Given the description of an element on the screen output the (x, y) to click on. 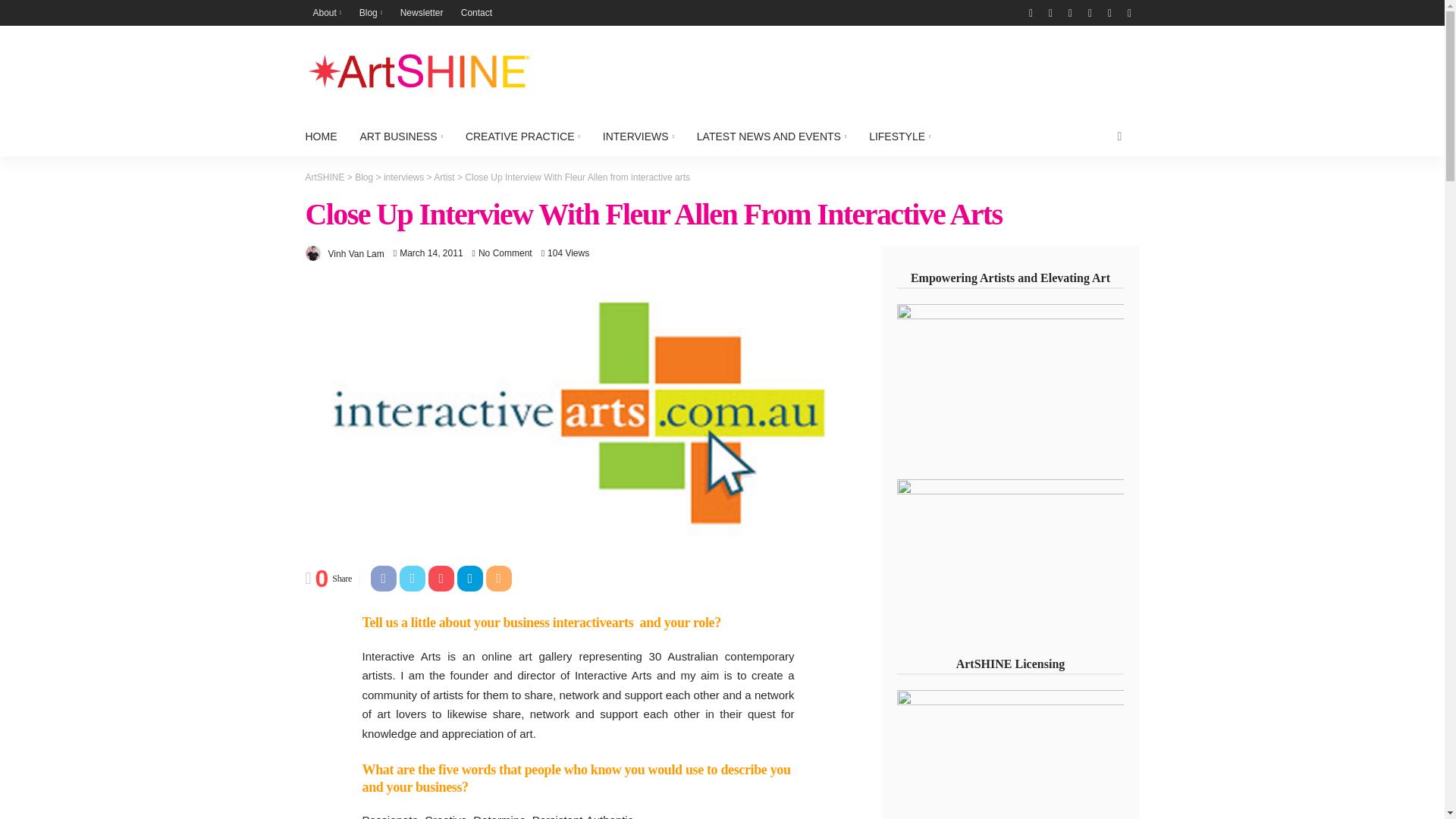
Newsletter (422, 12)
Contact (475, 12)
Blog (371, 12)
About (326, 12)
